Given the description of an element on the screen output the (x, y) to click on. 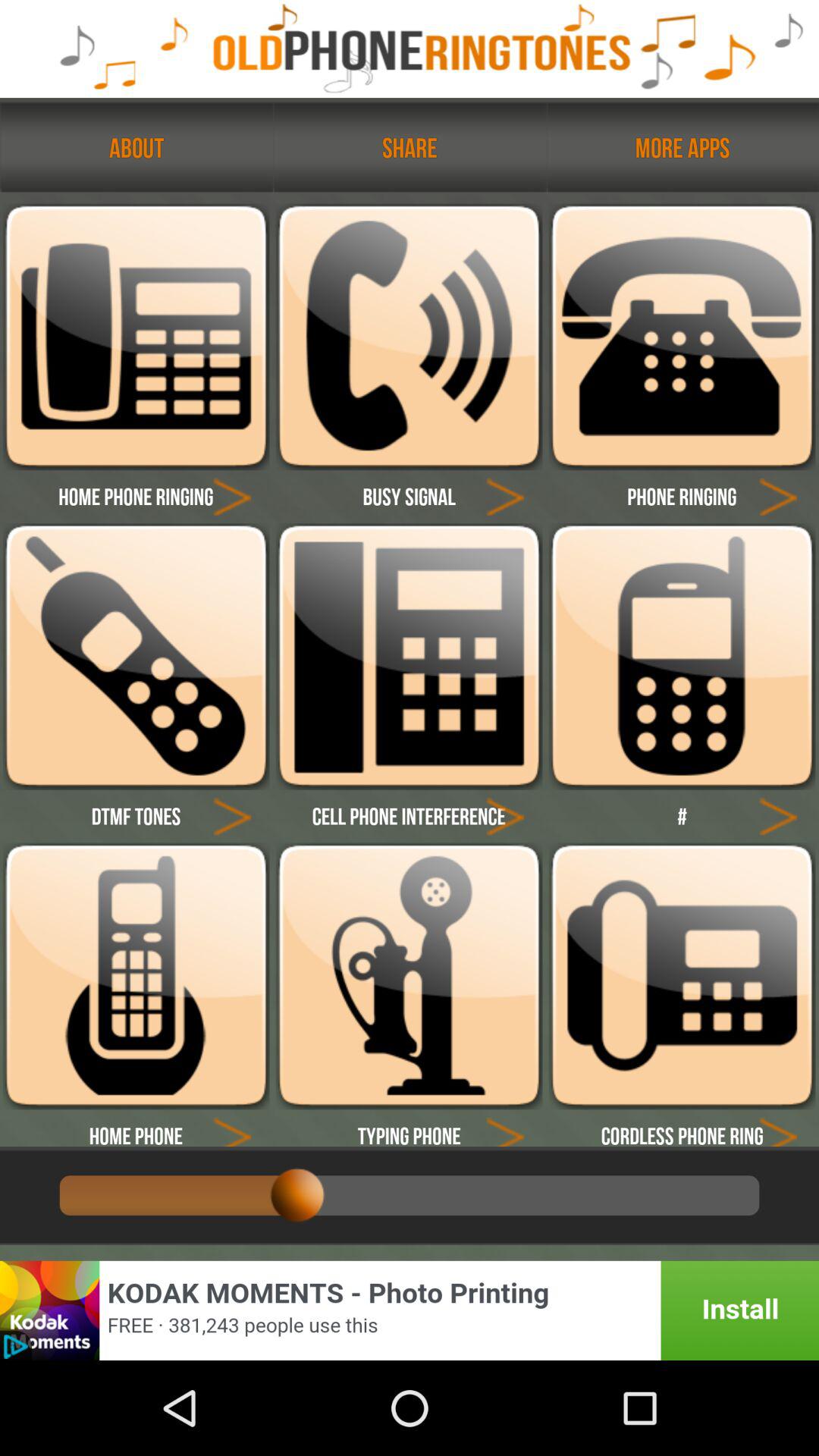
phone ringing (681, 336)
